Given the description of an element on the screen output the (x, y) to click on. 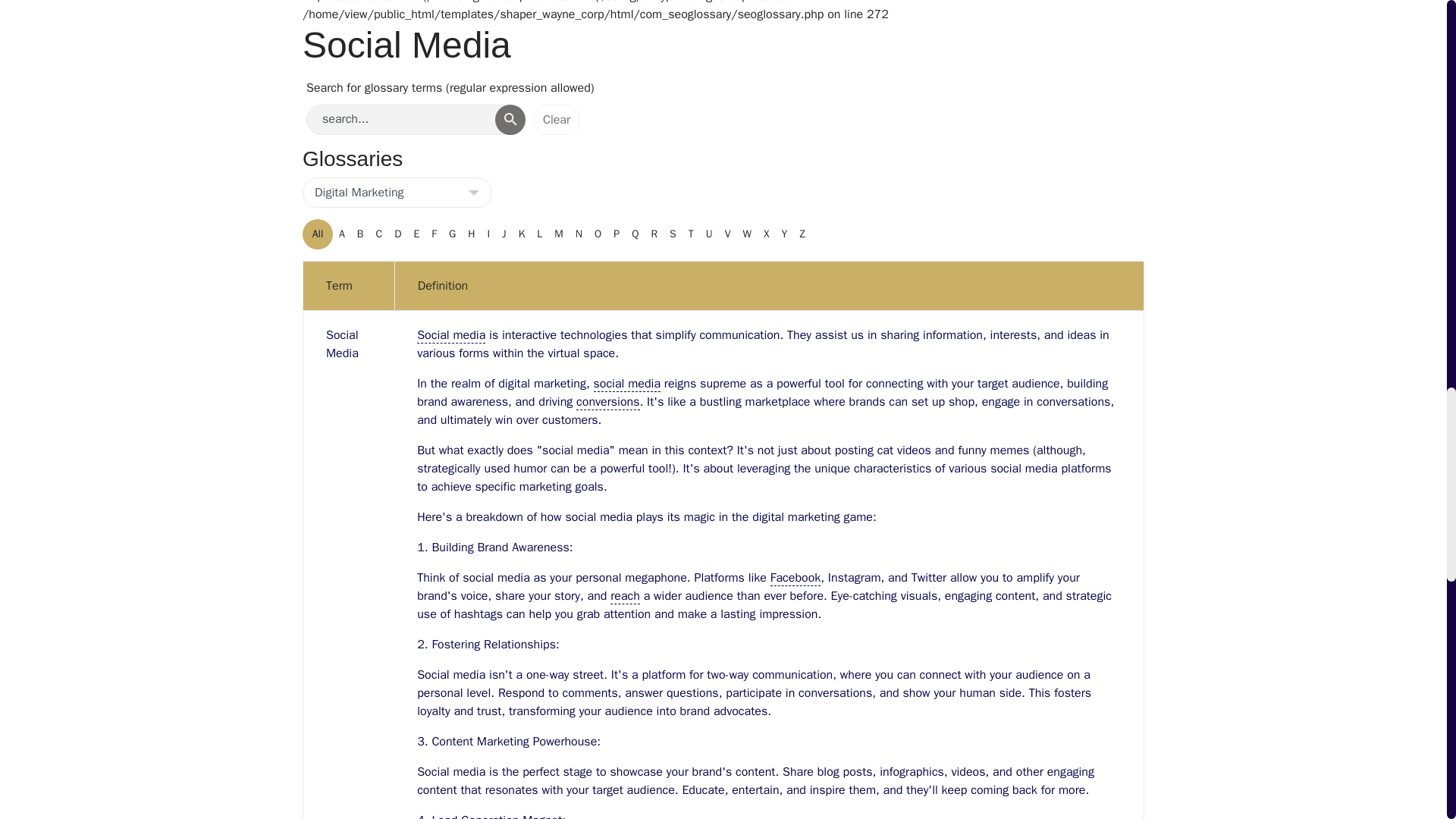
Search (510, 119)
Clear (555, 119)
search... (415, 119)
search (415, 119)
Clear (555, 119)
